Given the description of an element on the screen output the (x, y) to click on. 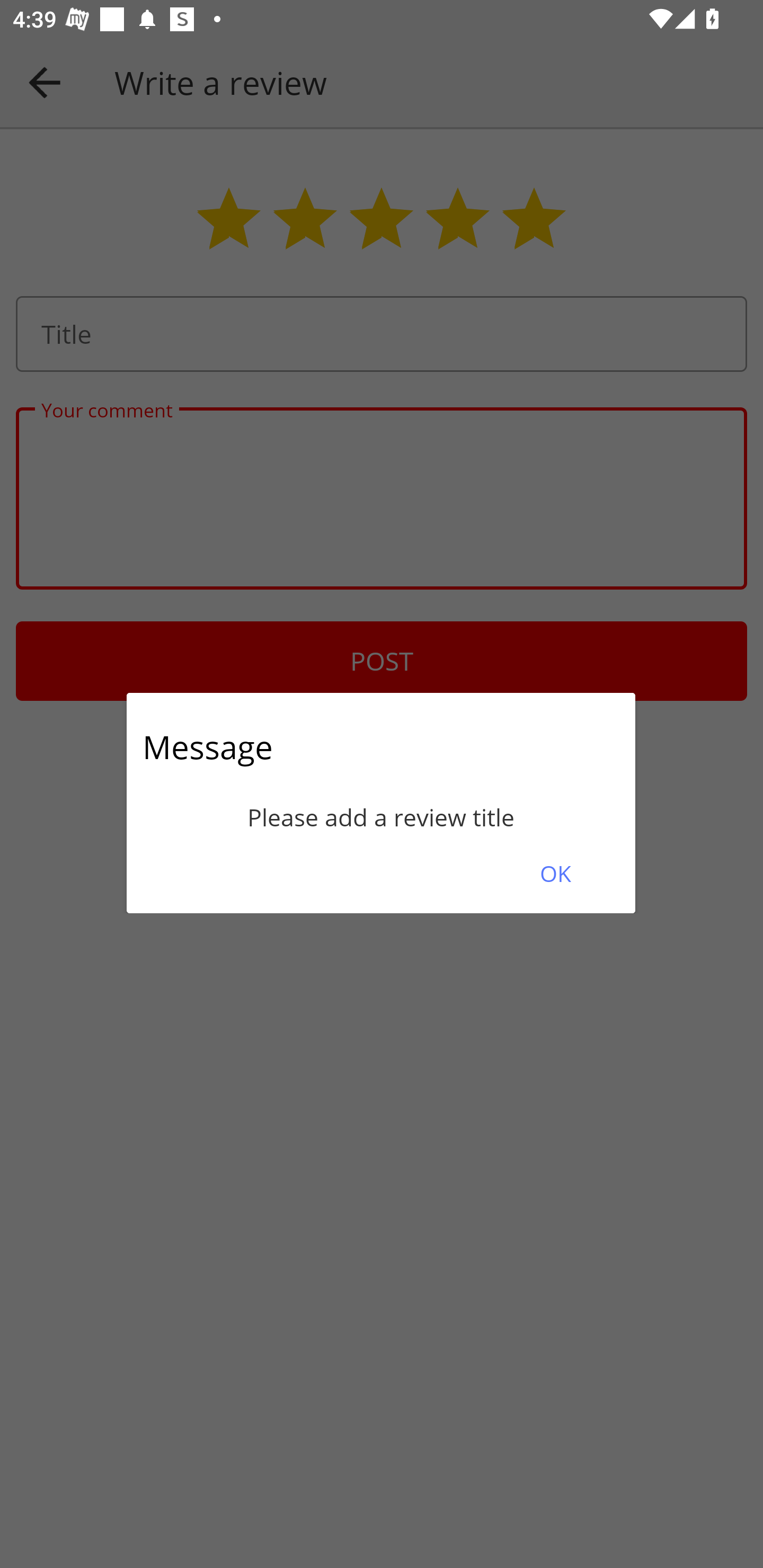
OK (555, 873)
